Given the description of an element on the screen output the (x, y) to click on. 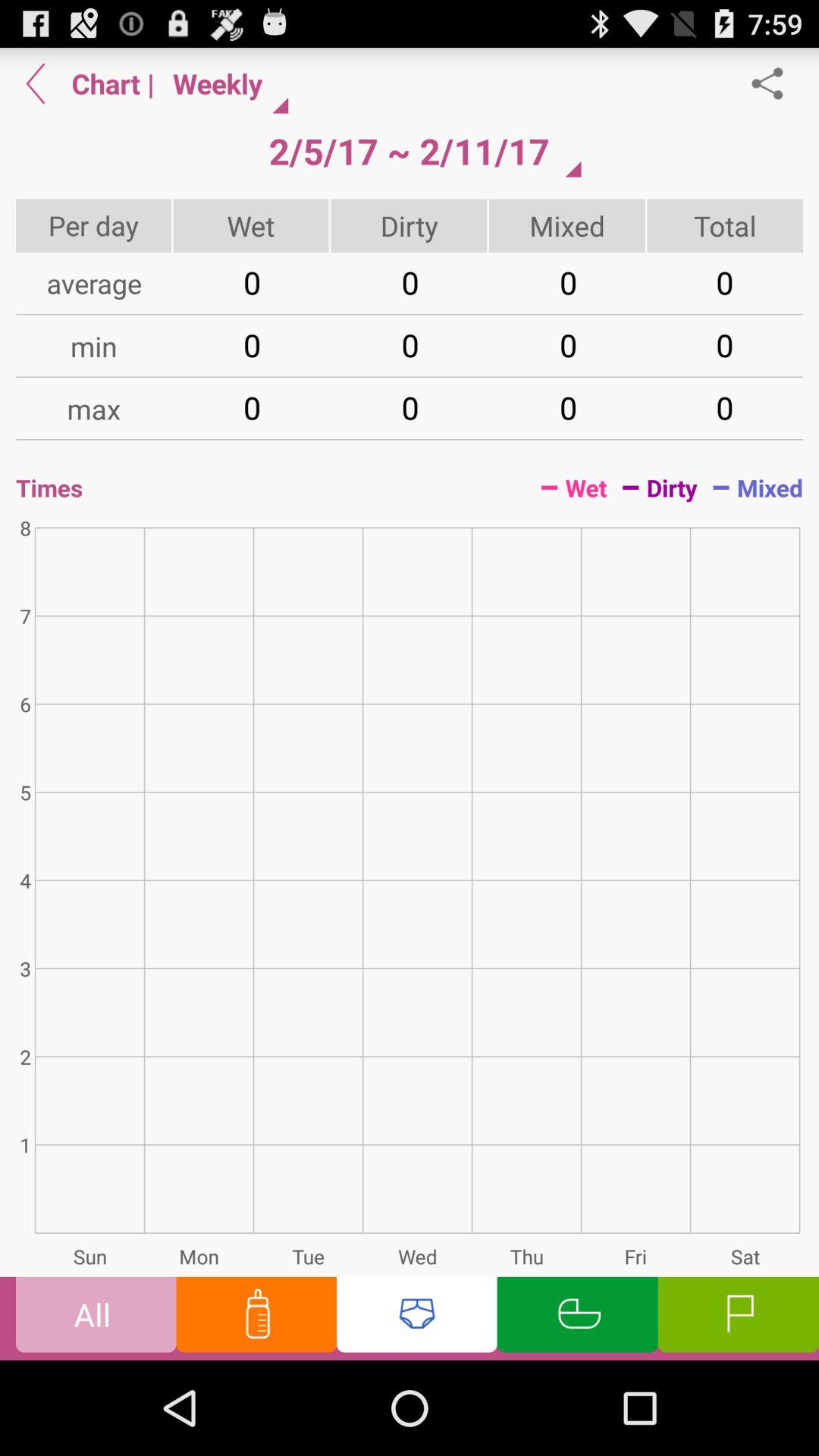
feed button (256, 1318)
